Given the description of an element on the screen output the (x, y) to click on. 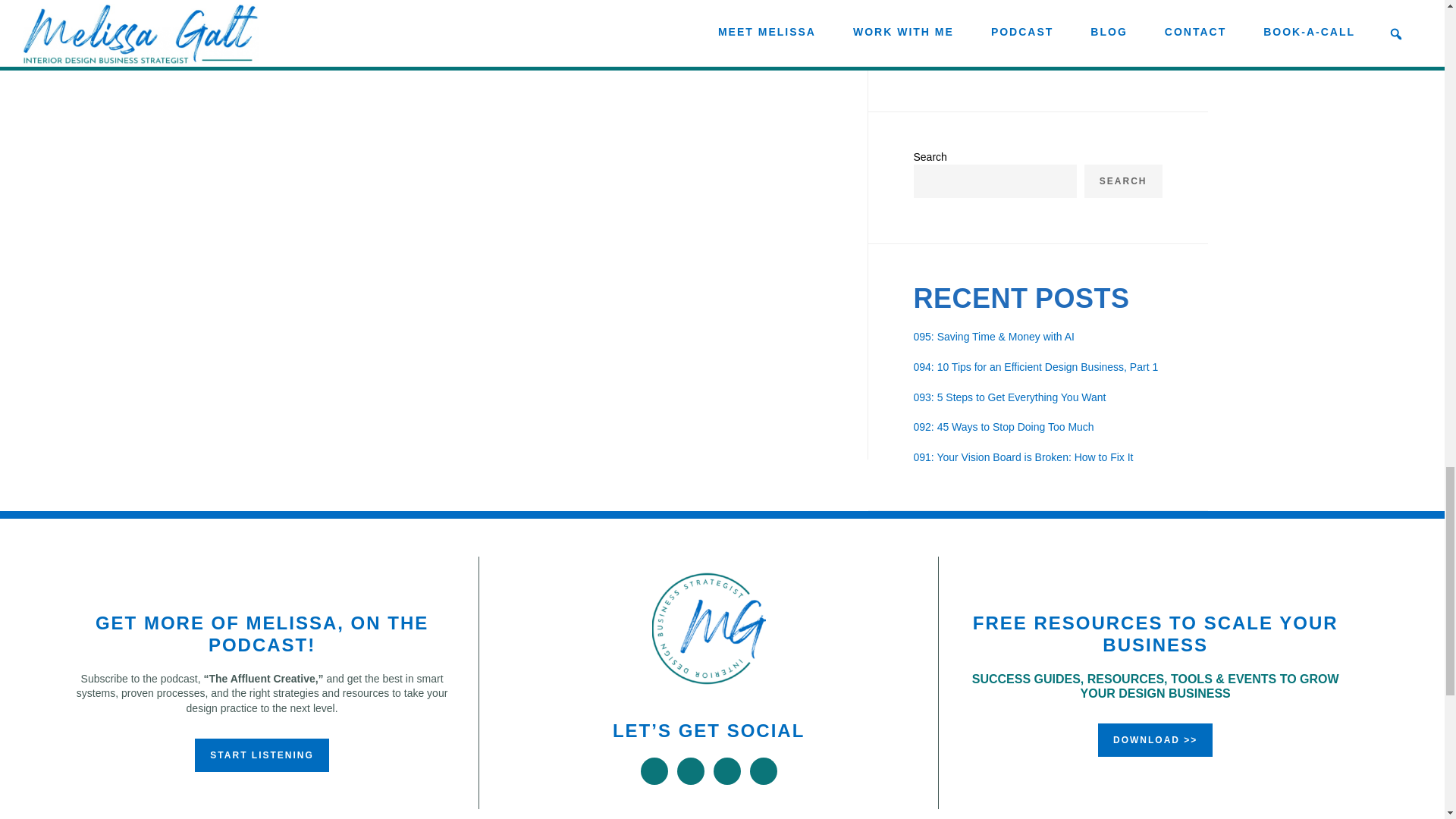
6 Ways to Calculate Interior Design Fees with Transparency (1066, 20)
093: 5 Steps to Get Everything You Want (1008, 397)
091: Your Vision Board is Broken: How to Fix It (1022, 457)
SEARCH (1122, 181)
START LISTENING (262, 755)
094: 10 Tips for an Efficient Design Business, Part 1 (1034, 367)
092: 45 Ways to Stop Doing Too Much (1002, 426)
